Given the description of an element on the screen output the (x, y) to click on. 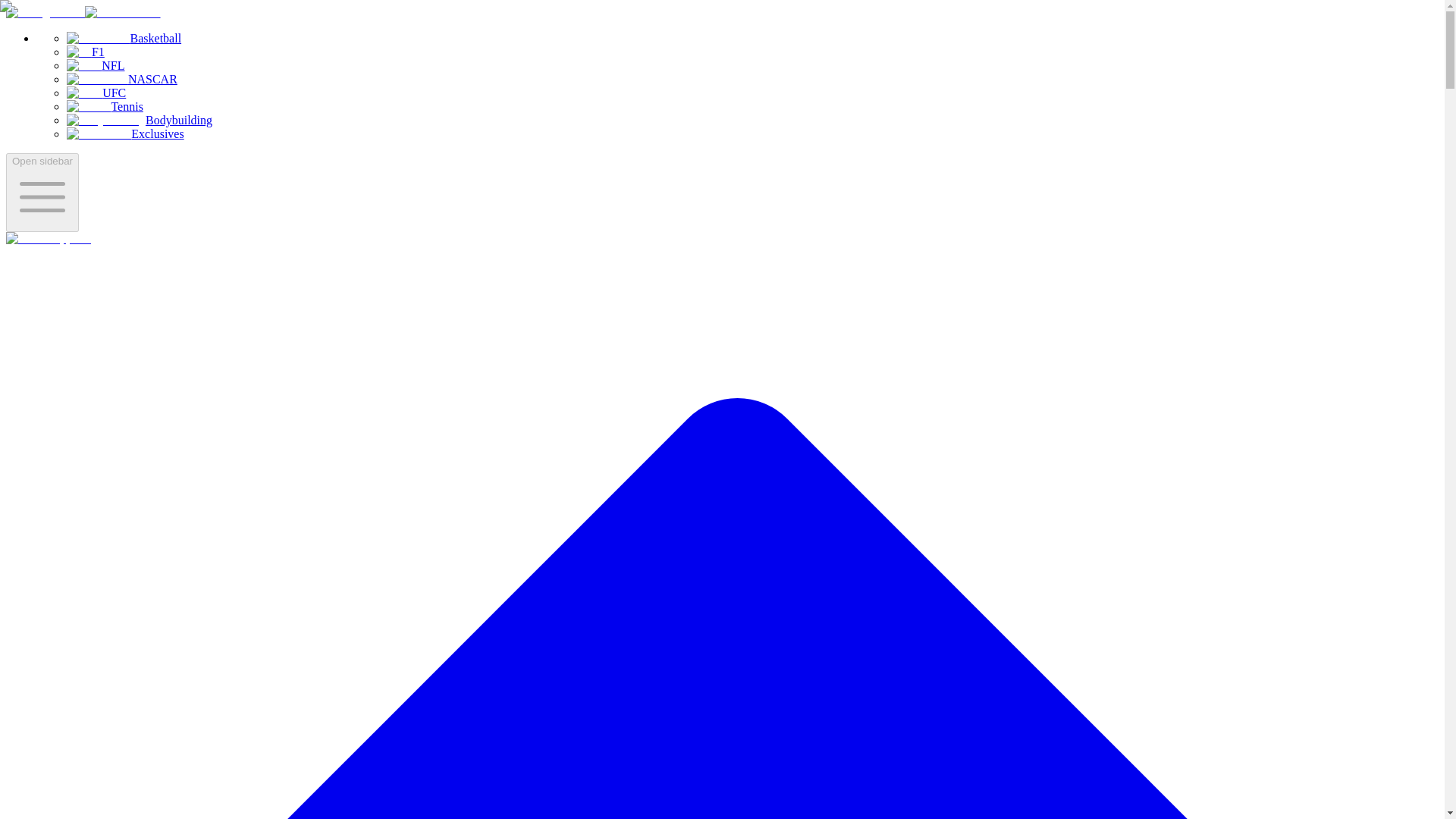
Open sidebar (41, 192)
F1 (85, 51)
UFC (95, 92)
Home (47, 237)
Bodybuilding (139, 119)
Exclusives (125, 133)
NASCAR (121, 78)
Basketball (123, 38)
Tennis (104, 106)
UFC (95, 92)
Tennis (104, 106)
Bodybuilding (139, 119)
Home (82, 11)
NASCAR (121, 78)
NFL (94, 65)
